Given the description of an element on the screen output the (x, y) to click on. 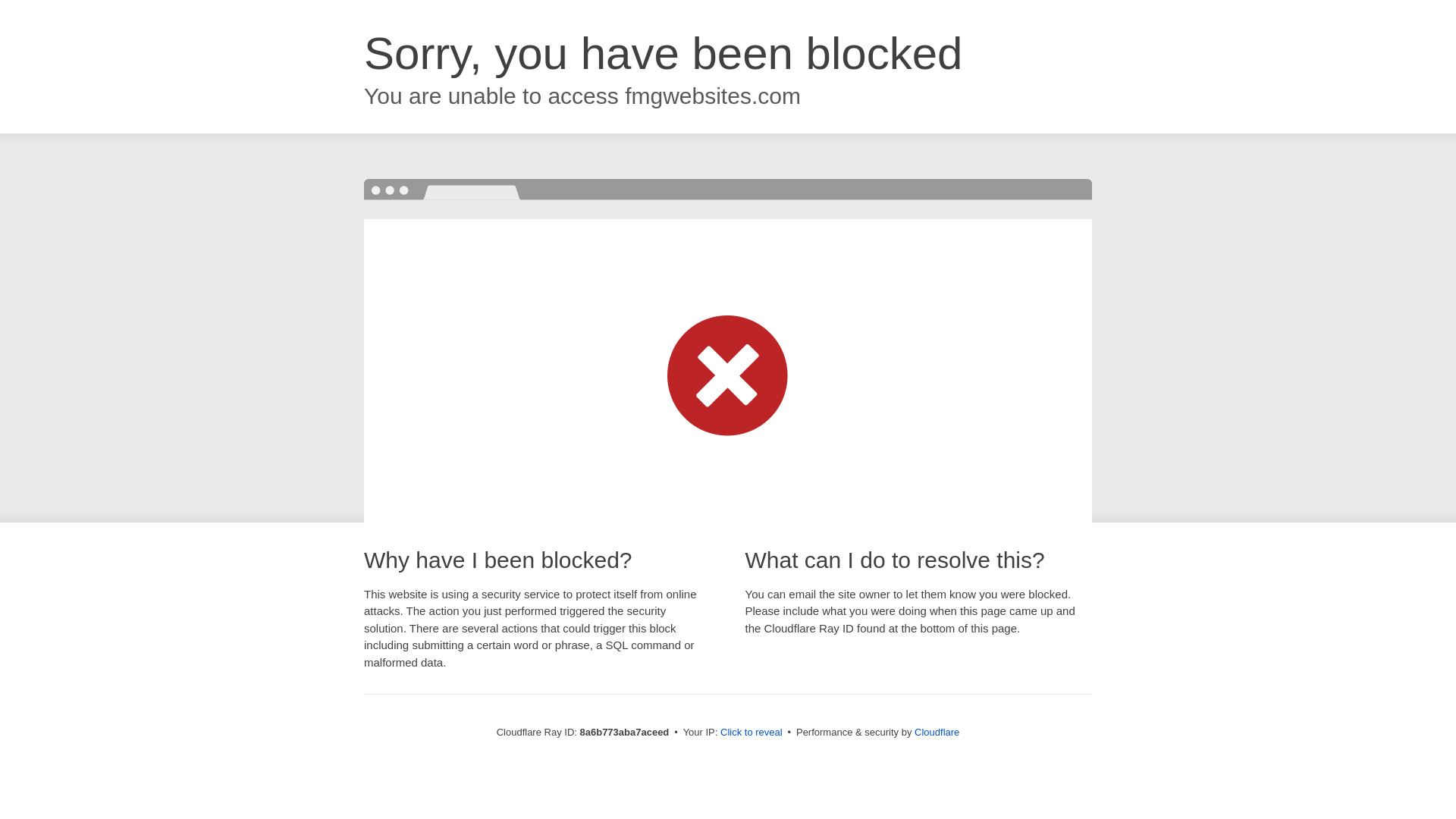
Click to reveal (751, 732)
Cloudflare (936, 731)
